Given the description of an element on the screen output the (x, y) to click on. 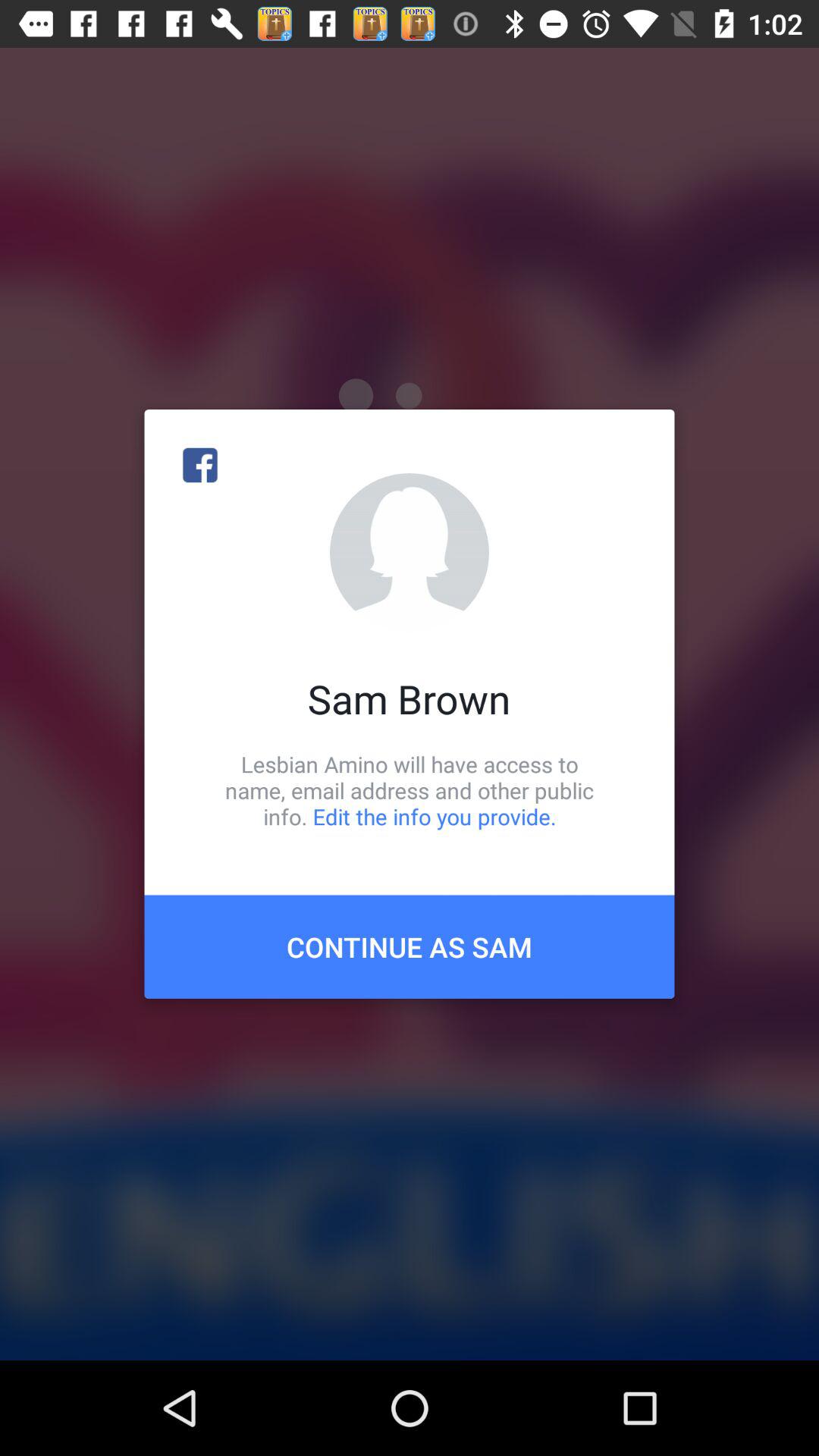
scroll until the continue as sam (409, 946)
